Given the description of an element on the screen output the (x, y) to click on. 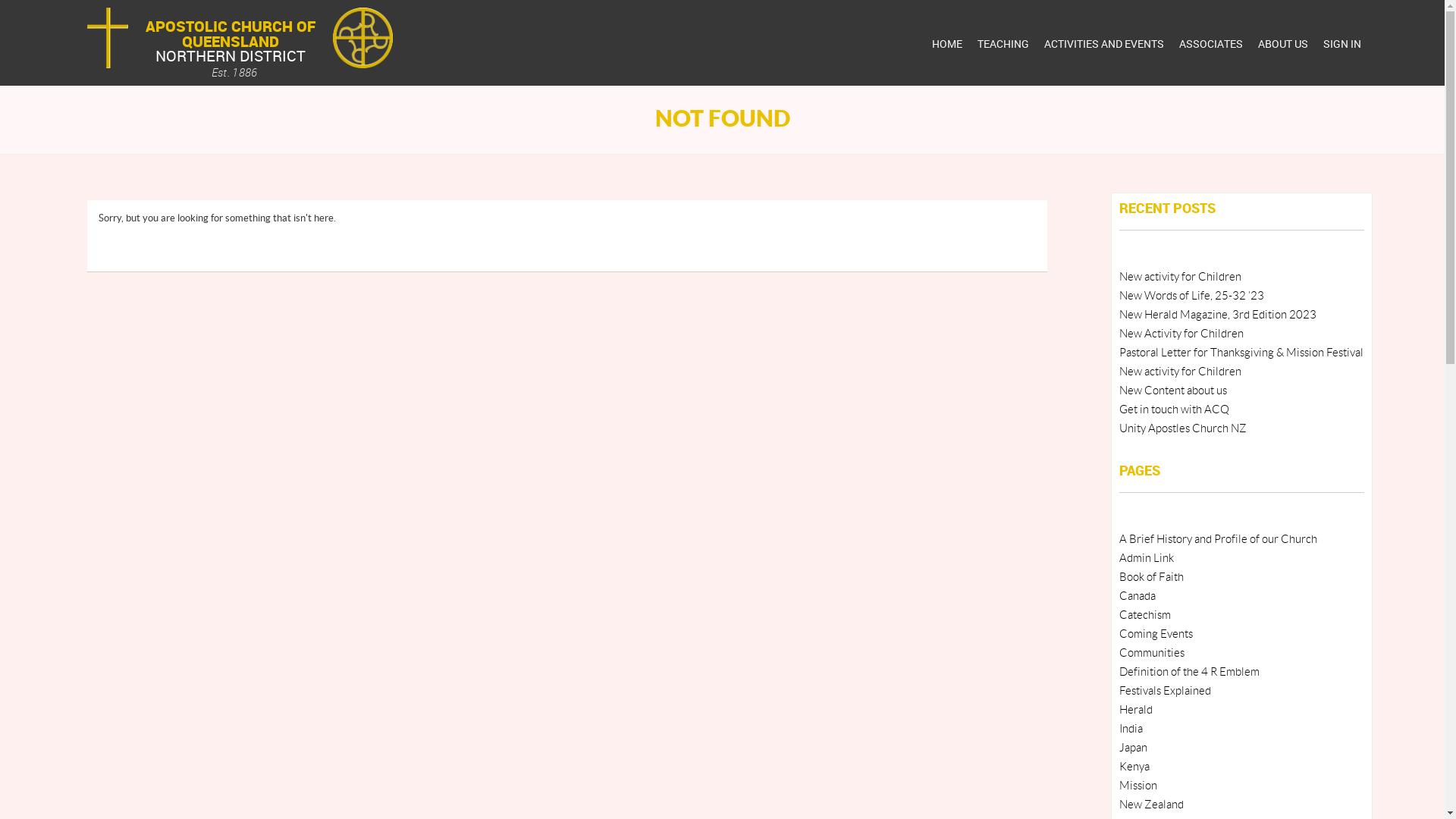
Japan Element type: text (1133, 747)
SIGN IN Element type: text (1338, 43)
Canada Element type: text (1137, 595)
Kenya Element type: text (1134, 766)
New activity for Children Element type: text (1180, 370)
Get in touch with ACQ Element type: text (1174, 408)
Coming Events Element type: text (1155, 633)
Book of Faith Element type: text (1151, 577)
Unity Apostles Church NZ Element type: text (1182, 428)
ASSOCIATES Element type: text (1206, 43)
Pastoral Letter for Thanksgiving & Mission Festival Element type: text (1241, 352)
HOME Element type: text (943, 43)
APOSTOLIC CHURCH OF QUEENSLAND
NORTHERN DISTRICT
Est. 1886 Element type: text (226, 46)
ABOUT US Element type: text (1278, 43)
Definition of the 4 R Emblem Element type: text (1189, 671)
TEACHING Element type: text (999, 43)
India Element type: text (1130, 728)
New Content about us Element type: text (1172, 390)
Admin Link Element type: text (1146, 557)
Festivals Explained Element type: text (1165, 690)
Catechism Element type: text (1144, 615)
Mission Element type: text (1138, 784)
New Herald Magazine, 3rd Edition 2023 Element type: text (1217, 314)
New Activity for Children Element type: text (1181, 332)
A Brief History and Profile of our Church Element type: text (1218, 539)
New Zealand Element type: text (1151, 804)
Communities Element type: text (1151, 652)
New activity for Children Element type: text (1180, 276)
Herald Element type: text (1135, 709)
ACTIVITIES AND EVENTS Element type: text (1099, 43)
